Given the description of an element on the screen output the (x, y) to click on. 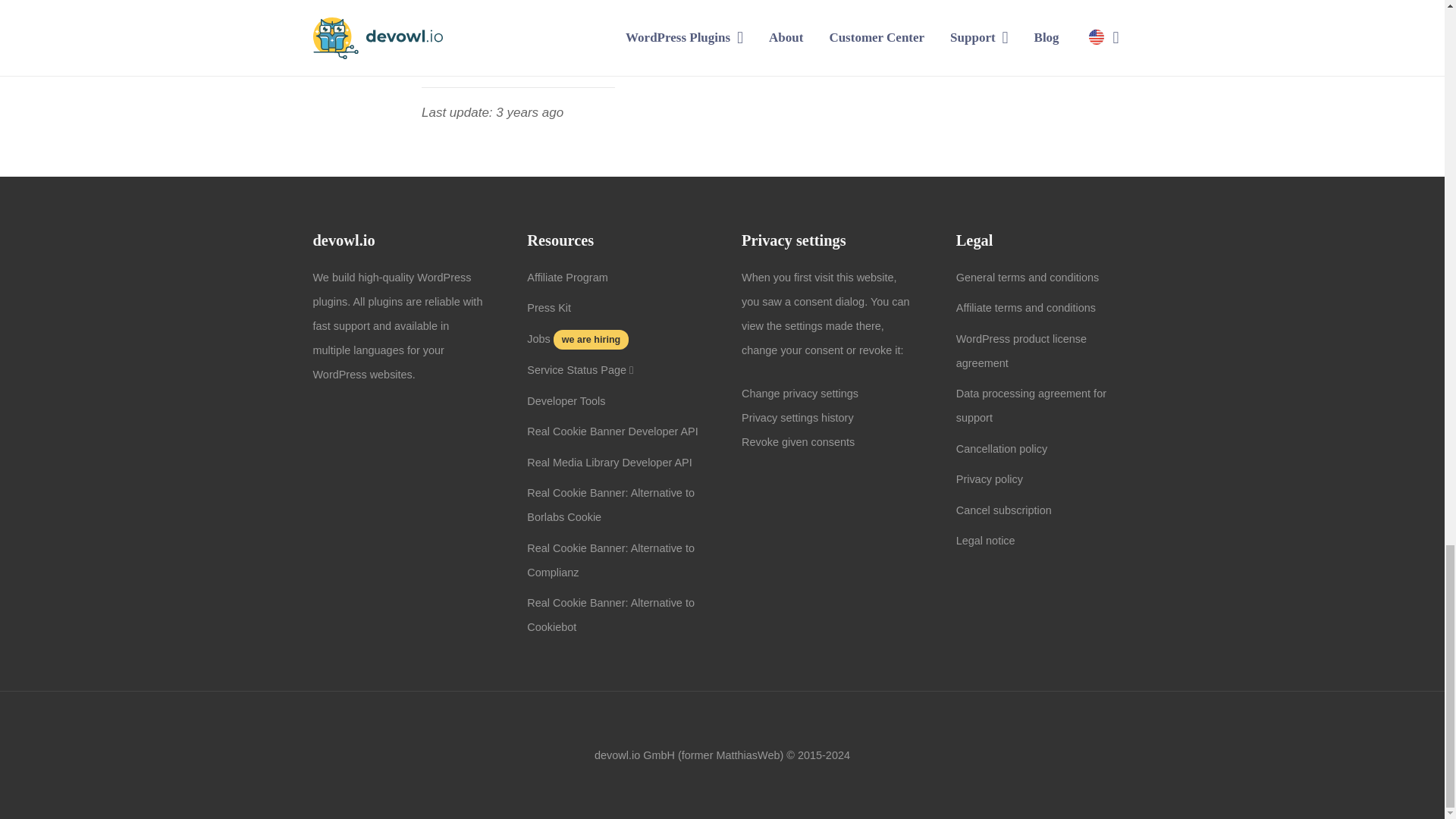
Affiliate terms and conditions (1026, 307)
Developer Tools (566, 400)
Affiliate Program (567, 277)
Jobs (538, 338)
Change privacy settings (800, 393)
Real Cookie Banner: Alternative to Borlabs Cookie (610, 504)
Press Kit (548, 307)
Real Media Library Developer API (609, 462)
Real Cookie Banner Developer API (612, 431)
Privacy settings history (797, 417)
